Given the description of an element on the screen output the (x, y) to click on. 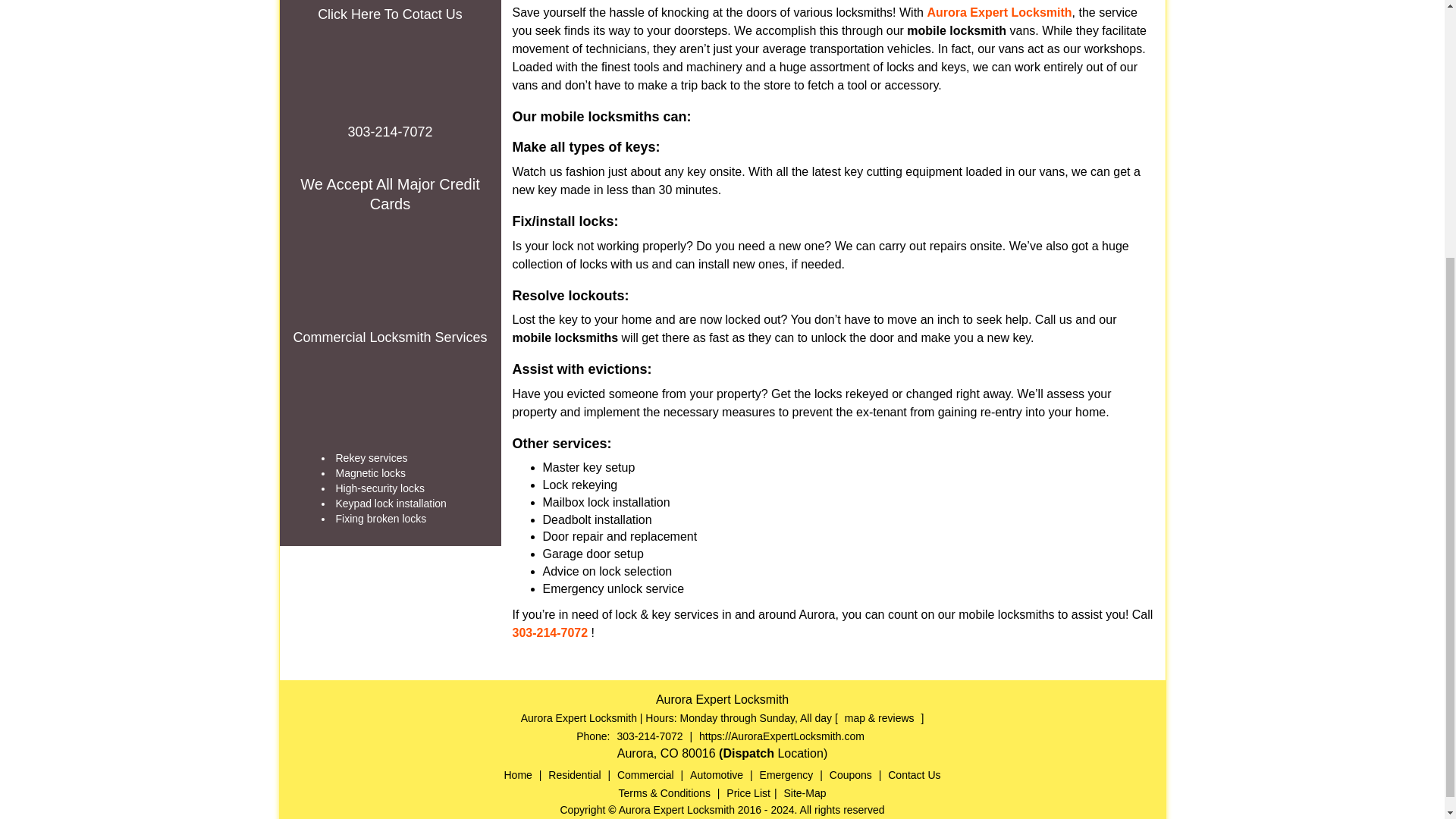
Commercial Locksmith Services (389, 337)
Residential (574, 775)
Click Here To Cotact Us (390, 13)
303-214-7072 (550, 632)
Aurora Expert Locksmith (998, 11)
Home (517, 775)
303-214-7072 (389, 131)
303-214-7072 (648, 736)
